Given the description of an element on the screen output the (x, y) to click on. 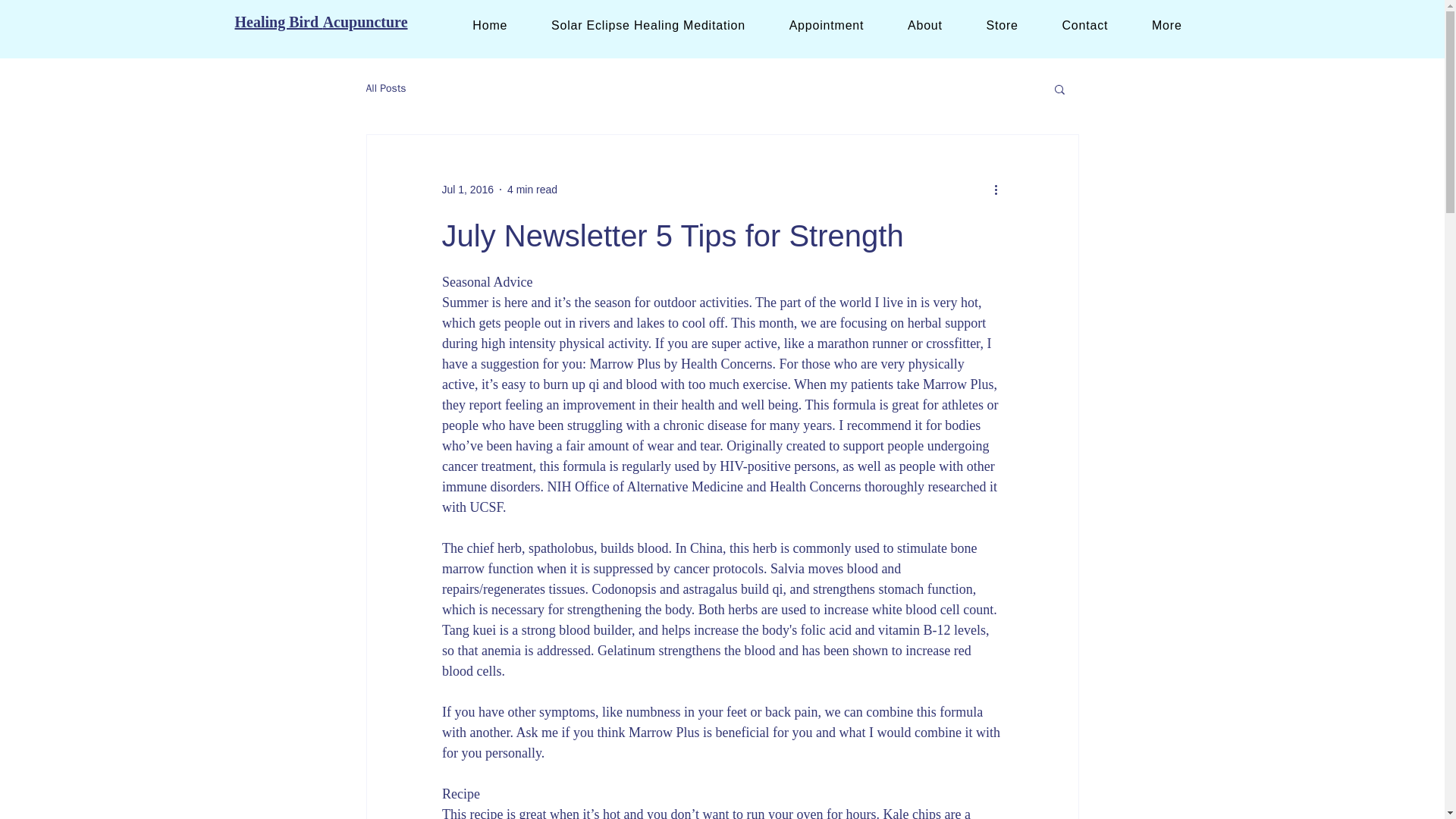
Healing Bird Acupuncture (320, 21)
Jul 1, 2016 (467, 189)
4 min read (531, 189)
Home (489, 25)
Solar Eclipse Healing Meditation (648, 25)
All Posts (385, 88)
Contact (1085, 25)
Store (1002, 25)
About (924, 25)
